Given the description of an element on the screen output the (x, y) to click on. 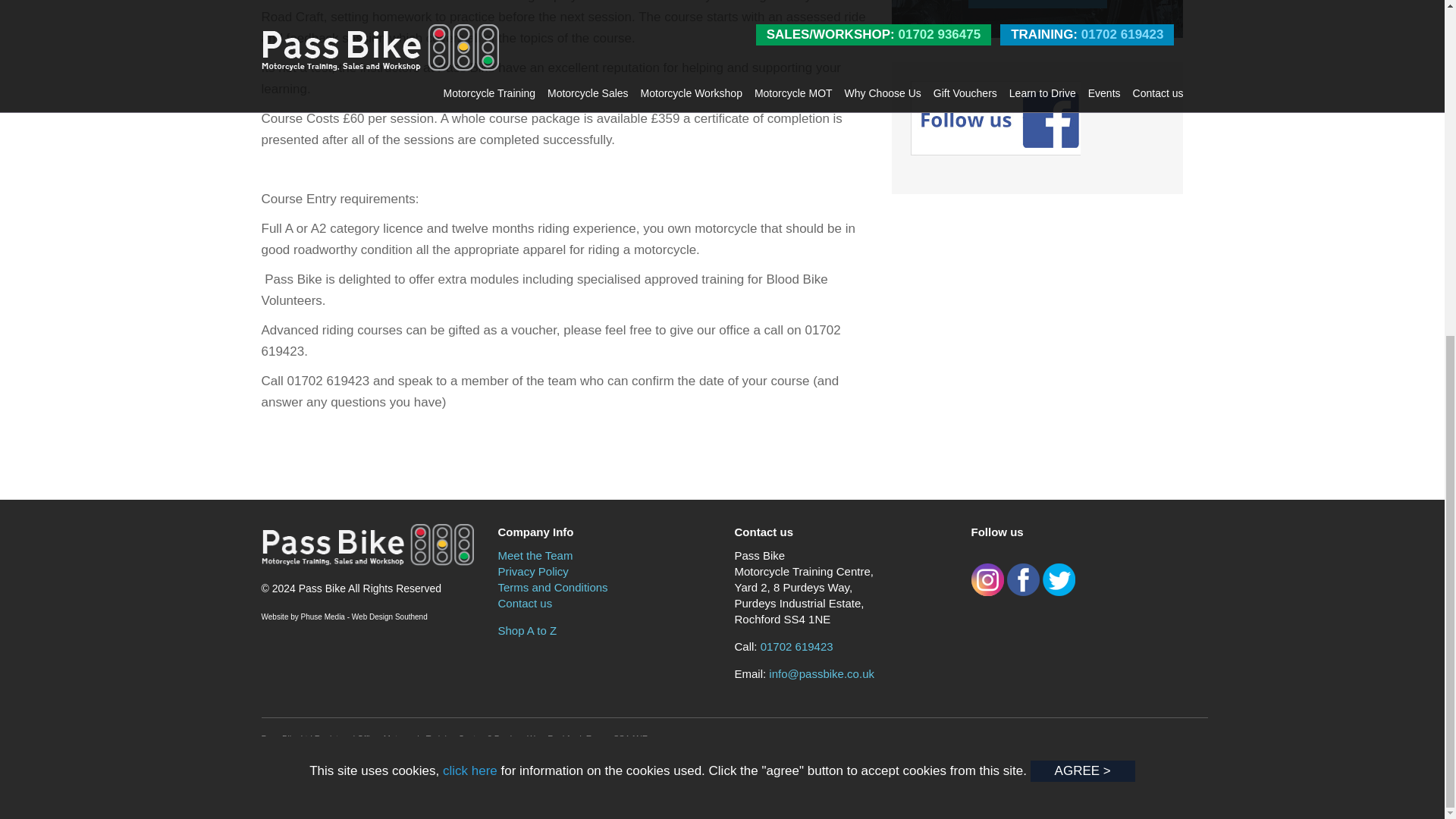
Web Design Southend (390, 616)
